Given the description of an element on the screen output the (x, y) to click on. 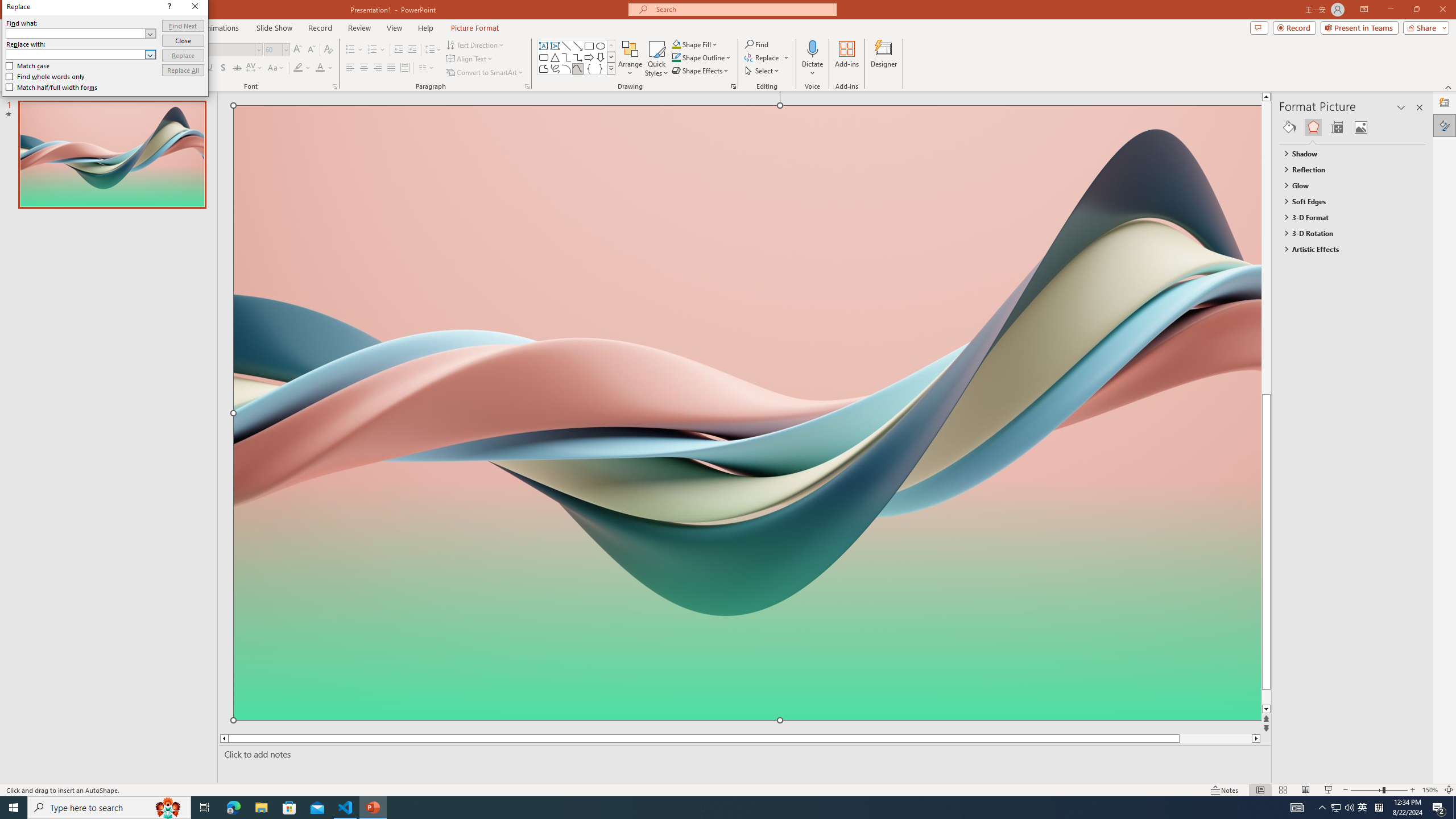
Size & Properties (1336, 126)
Shadow (223, 67)
Vertical Text Box (554, 45)
Replace (183, 55)
Change Case (276, 67)
Shape Effects (700, 69)
Arrange (630, 58)
Picture Format (475, 28)
Action Center, 2 new notifications (1439, 807)
